Given the description of an element on the screen output the (x, y) to click on. 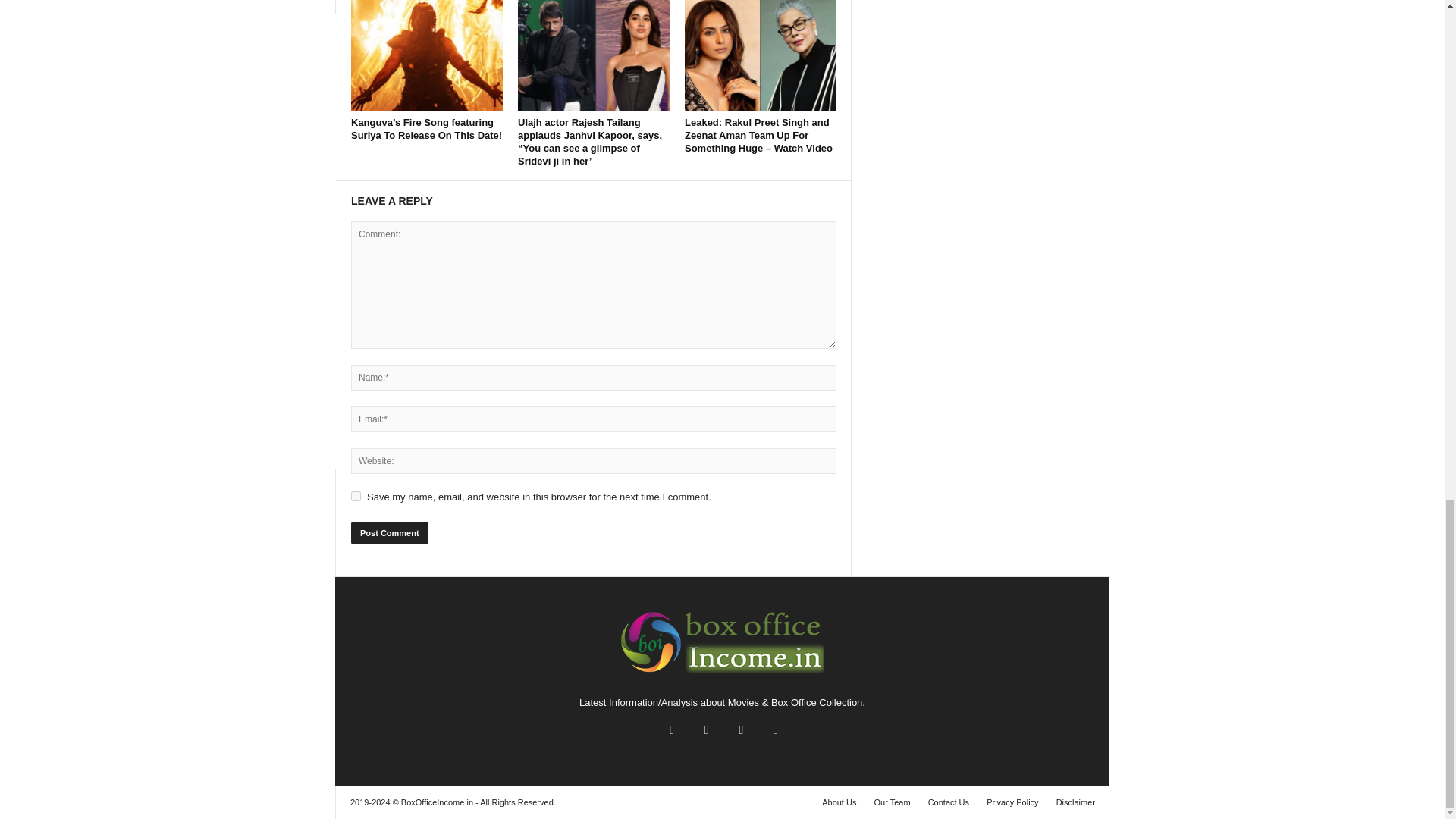
yes (355, 496)
Post Comment (389, 532)
